Given the description of an element on the screen output the (x, y) to click on. 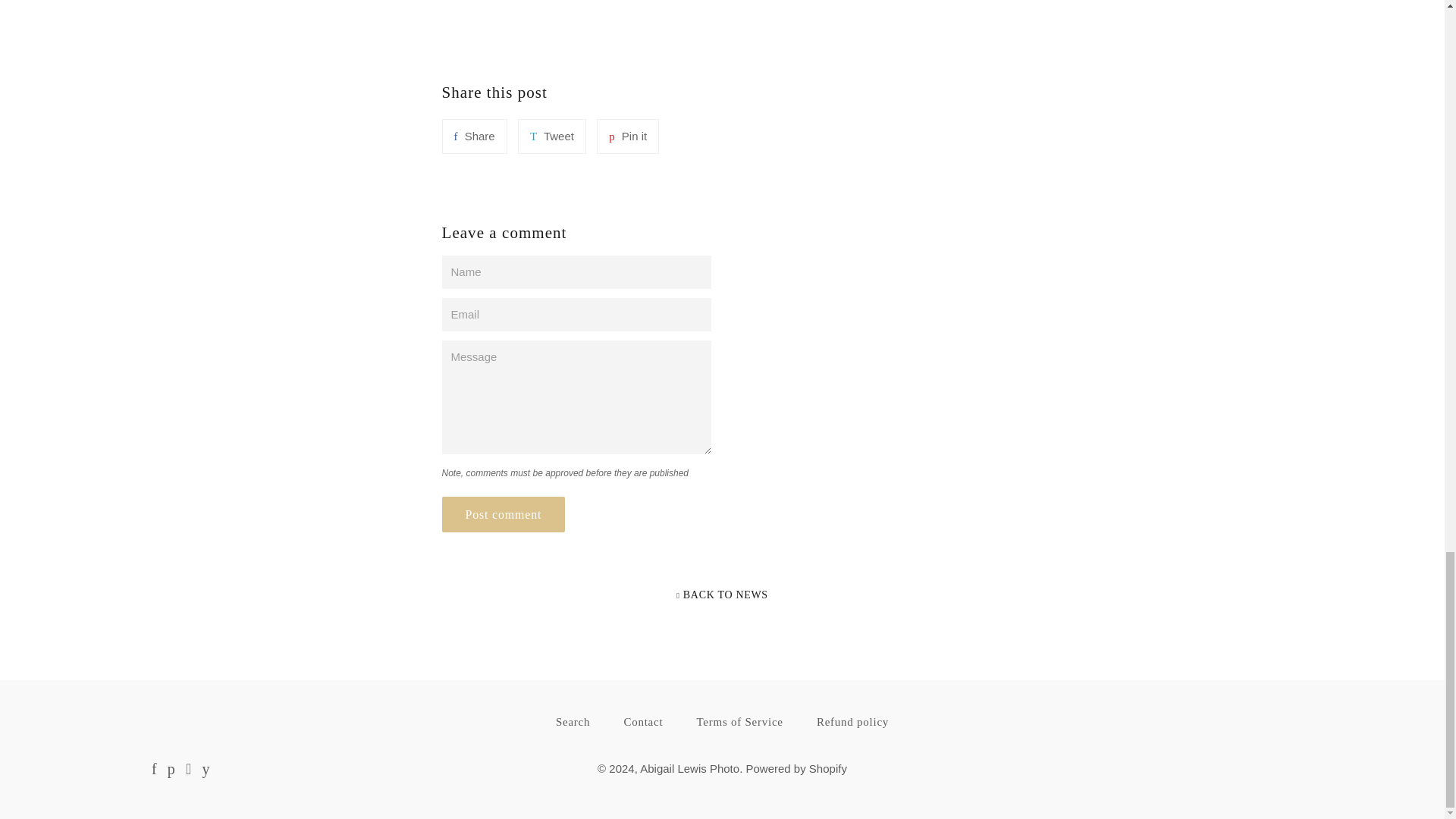
Tweet on Twitter (552, 135)
Post comment (502, 514)
Share on Facebook (473, 135)
Pin on Pinterest (627, 135)
